Given the description of an element on the screen output the (x, y) to click on. 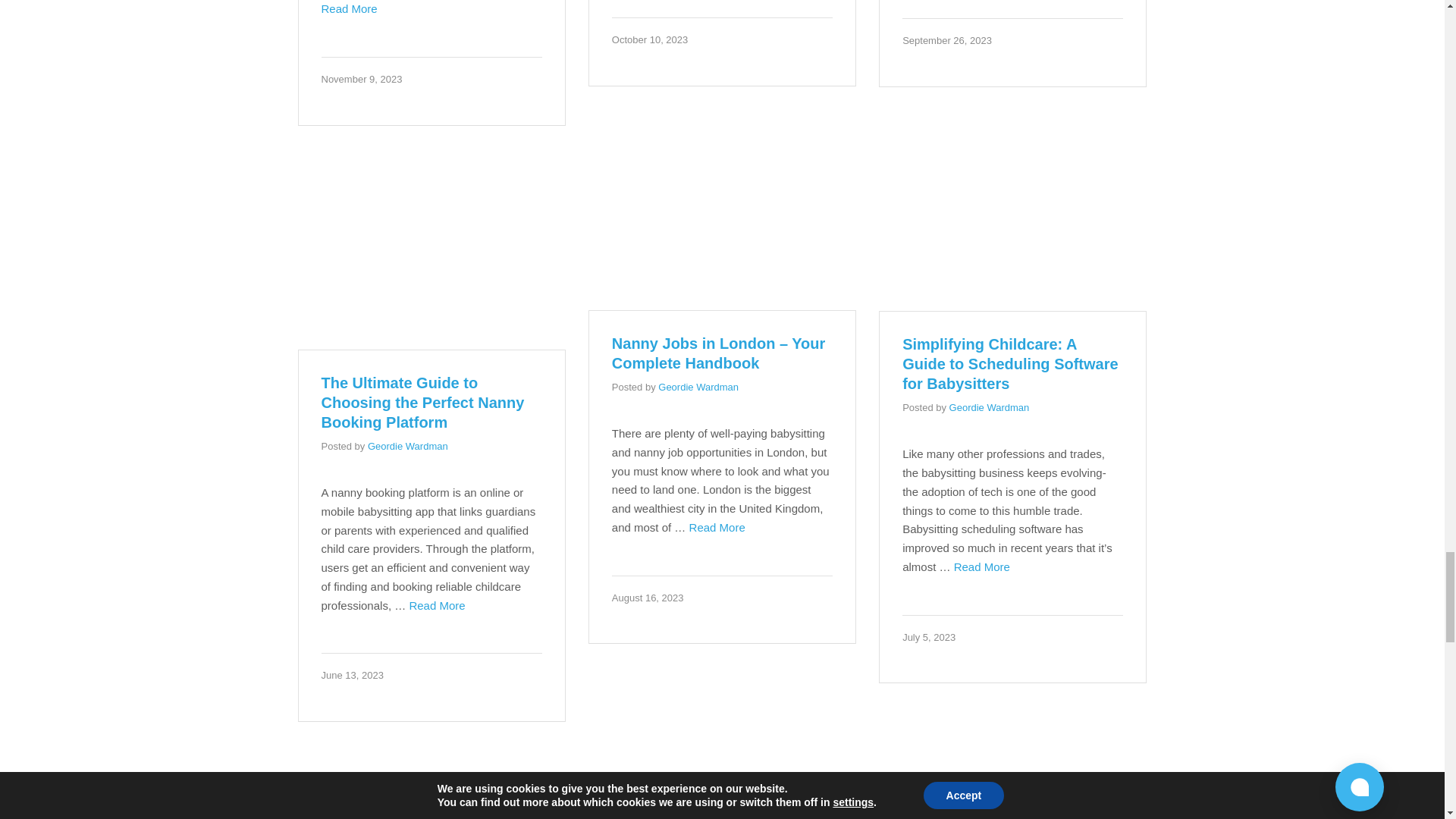
Posts by Geordie Wardman (698, 387)
Posts by Geordie Wardman (408, 446)
Posts by Geordie Wardman (989, 407)
